Given the description of an element on the screen output the (x, y) to click on. 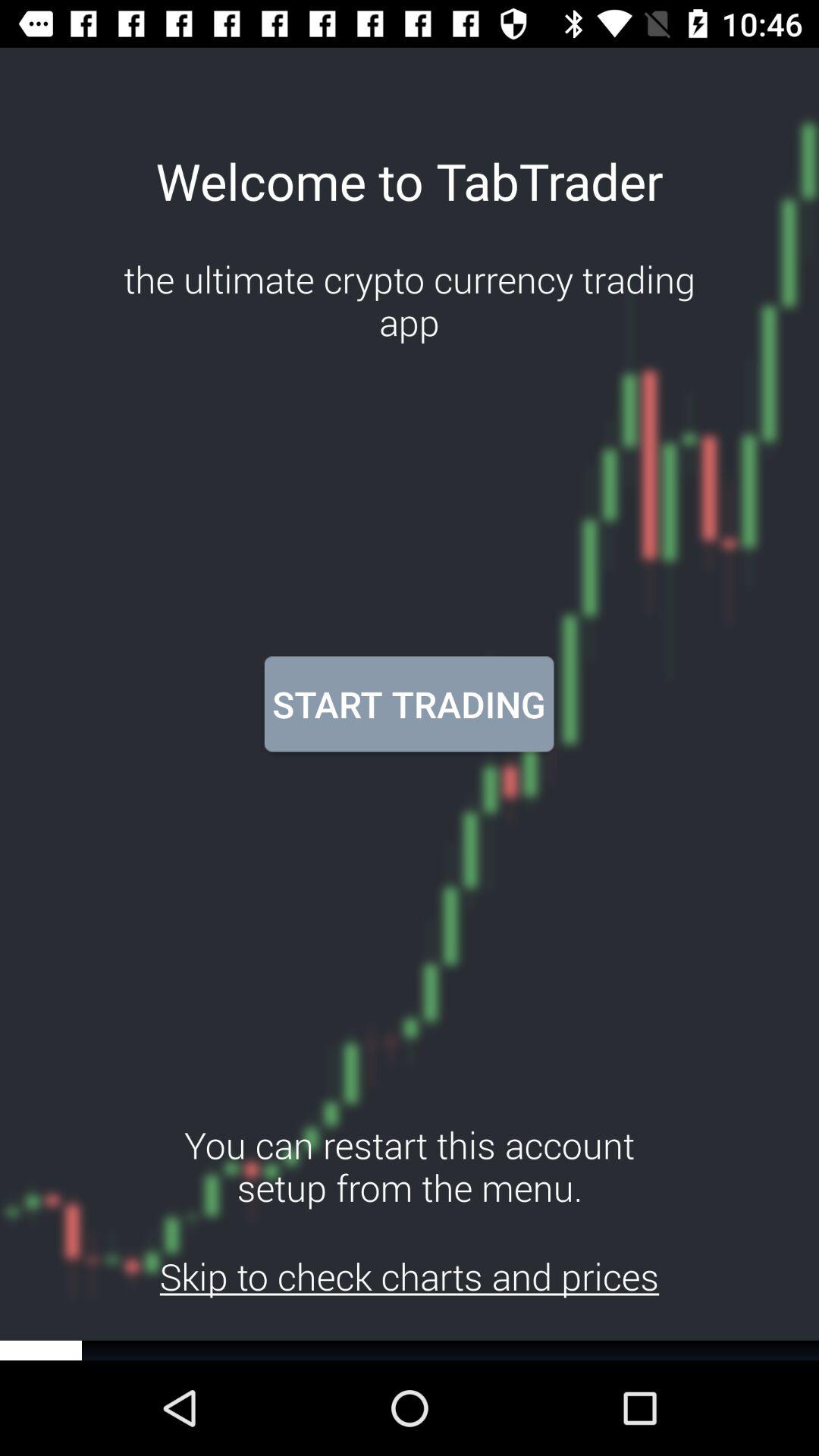
press icon below the ultimate crypto icon (408, 703)
